Given the description of an element on the screen output the (x, y) to click on. 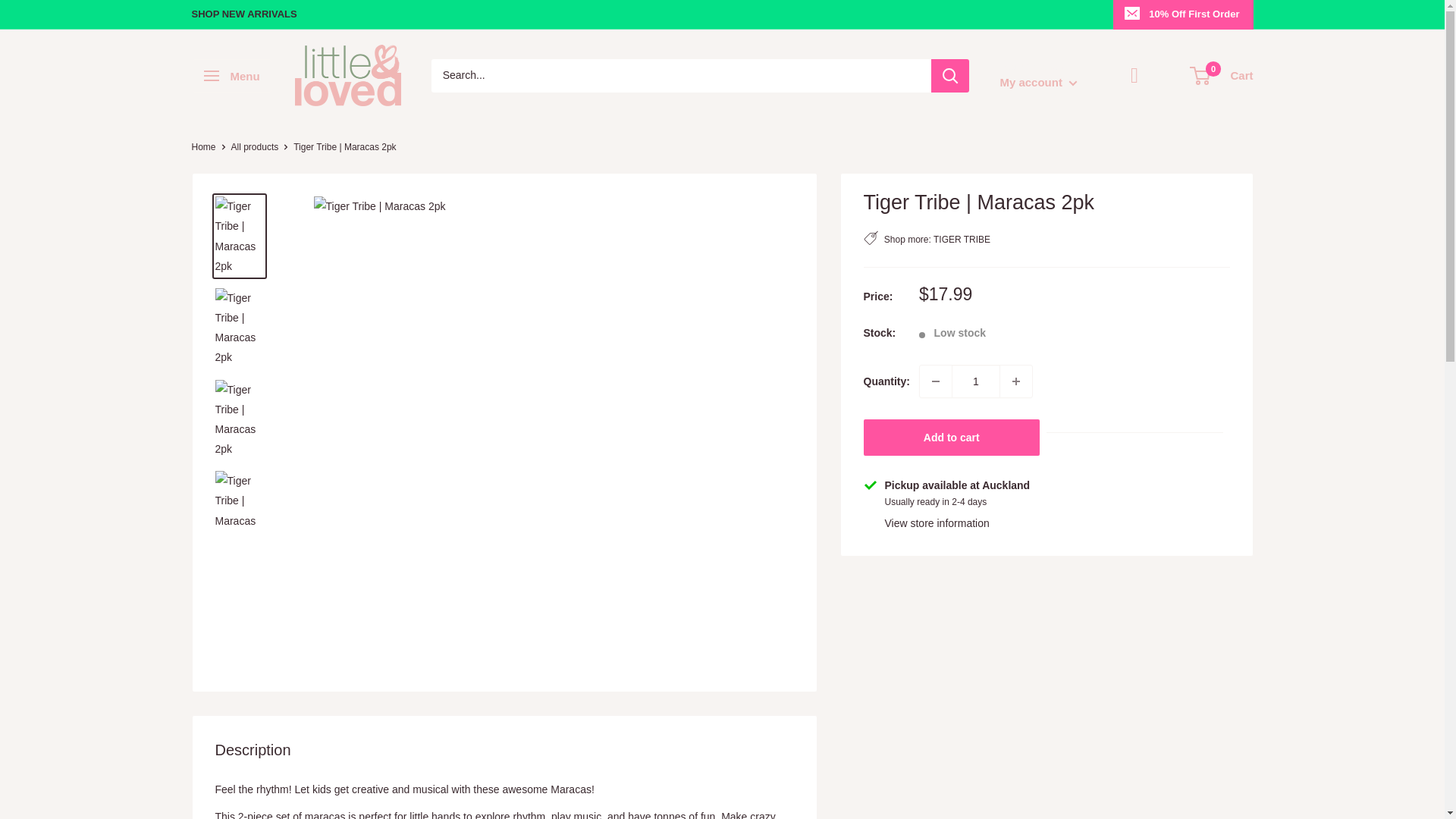
Decrease quantity by 1 (936, 381)
SHOP NEW ARRIVALS (243, 14)
Increase quantity by 1 (1016, 381)
1 (976, 381)
